Given the description of an element on the screen output the (x, y) to click on. 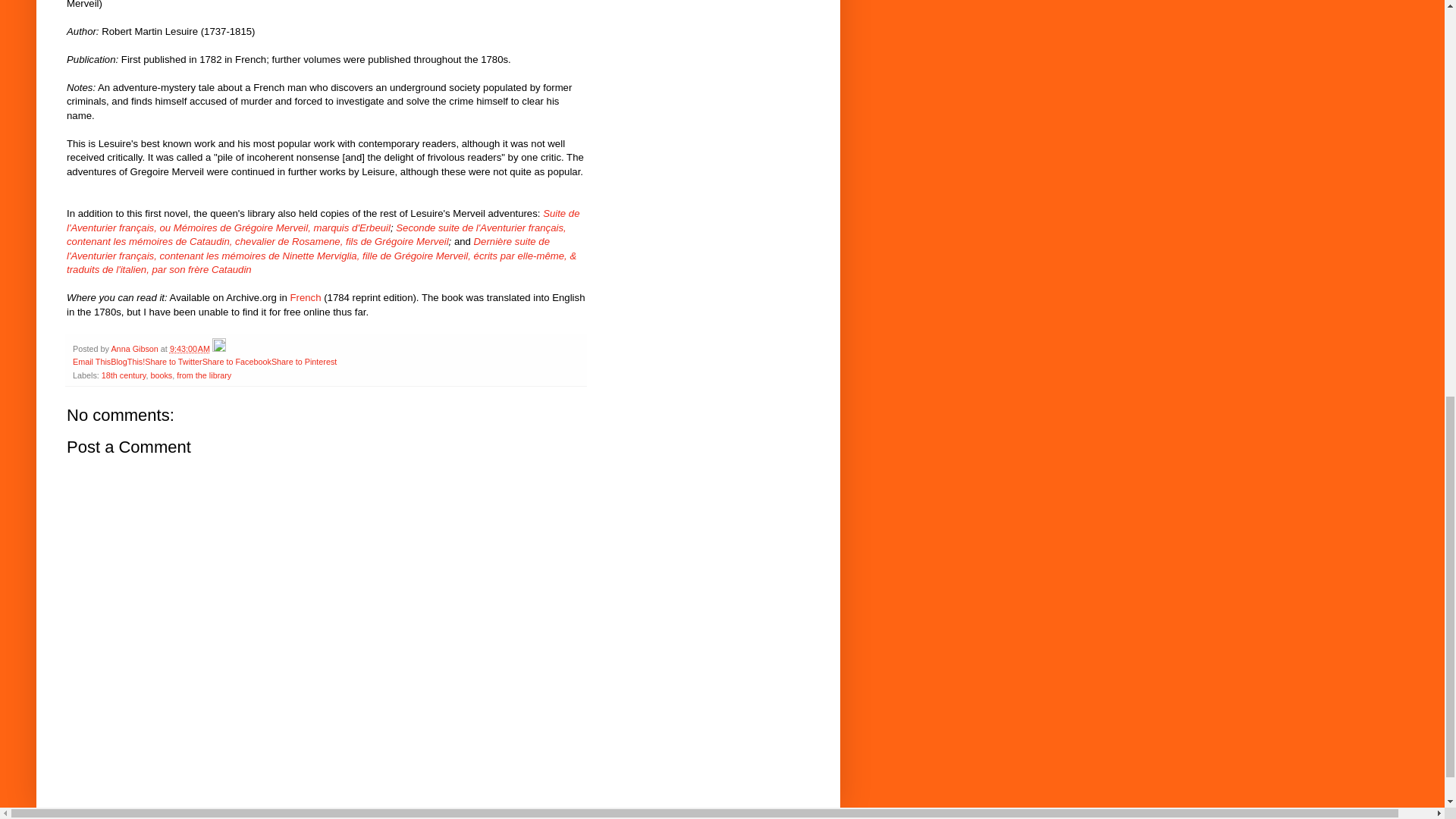
Share to Facebook (236, 361)
books (160, 375)
18th century (124, 375)
French (304, 297)
Share to Twitter (173, 361)
Email This (91, 361)
BlogThis! (127, 361)
permanent link (189, 347)
Edit Post (218, 347)
BlogThis! (127, 361)
